Given the description of an element on the screen output the (x, y) to click on. 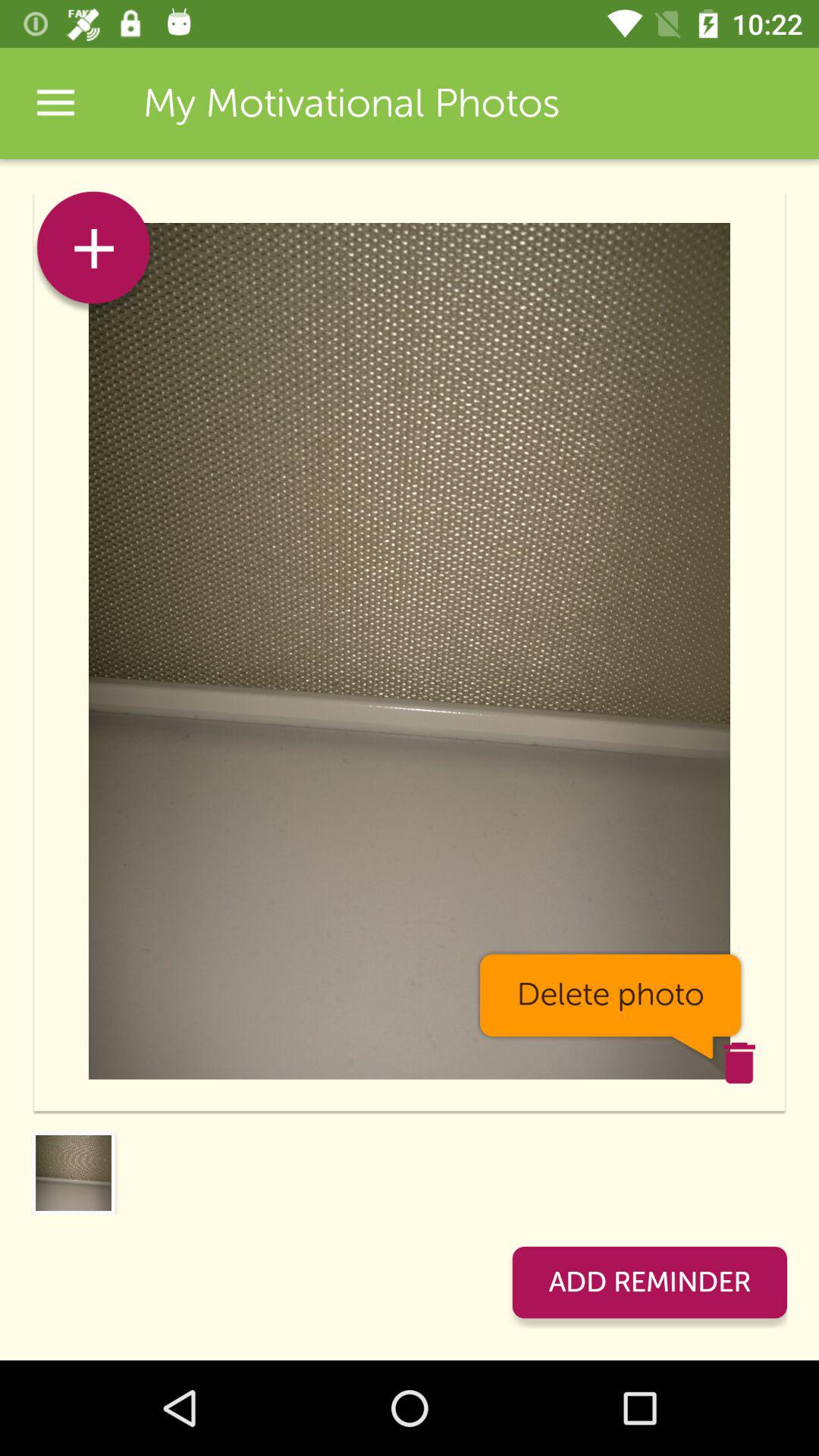
jump to add reminder (649, 1282)
